Given the description of an element on the screen output the (x, y) to click on. 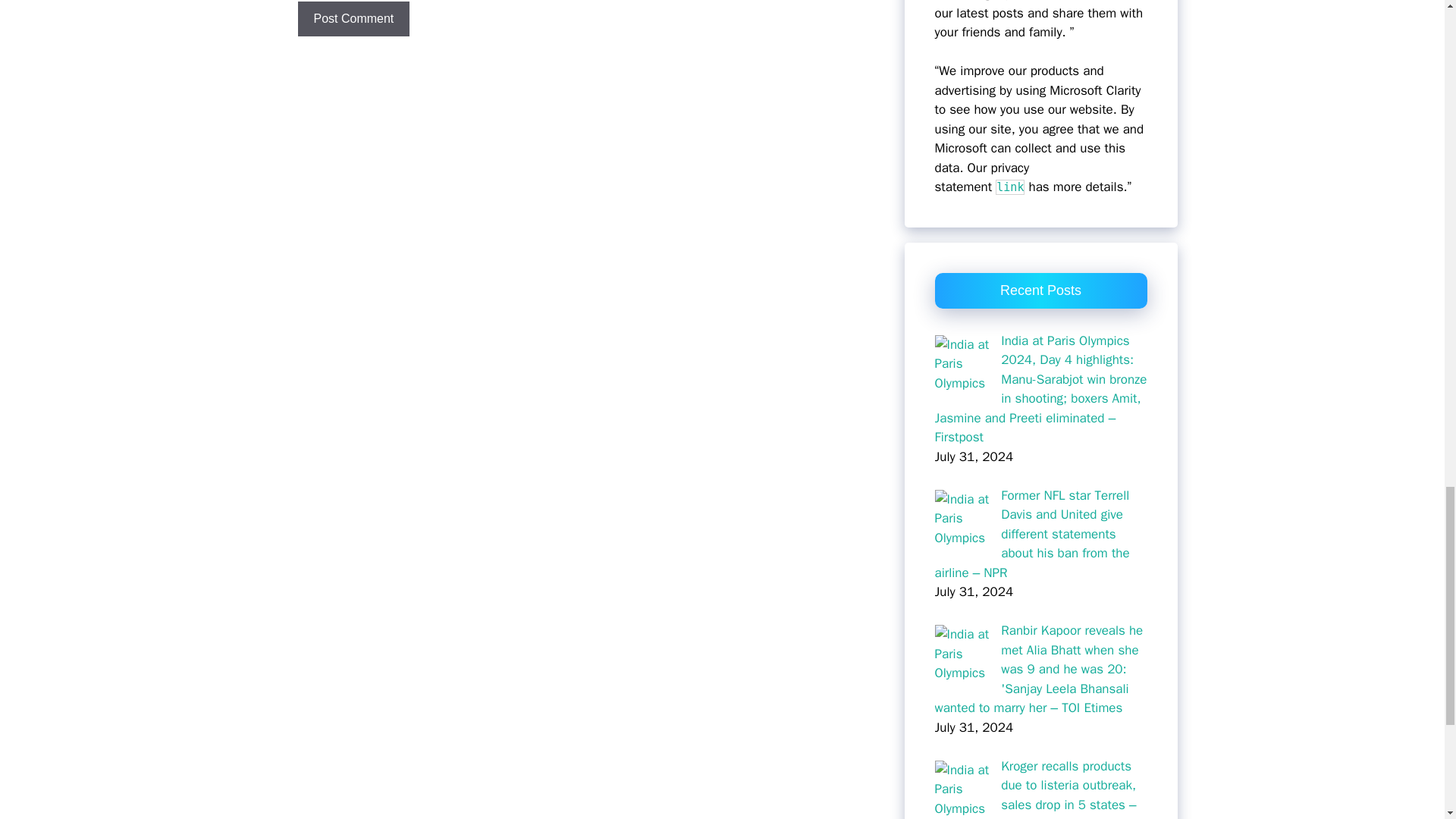
link (1009, 187)
Post Comment (353, 18)
Post Comment (353, 18)
policy (1009, 187)
